Given the description of an element on the screen output the (x, y) to click on. 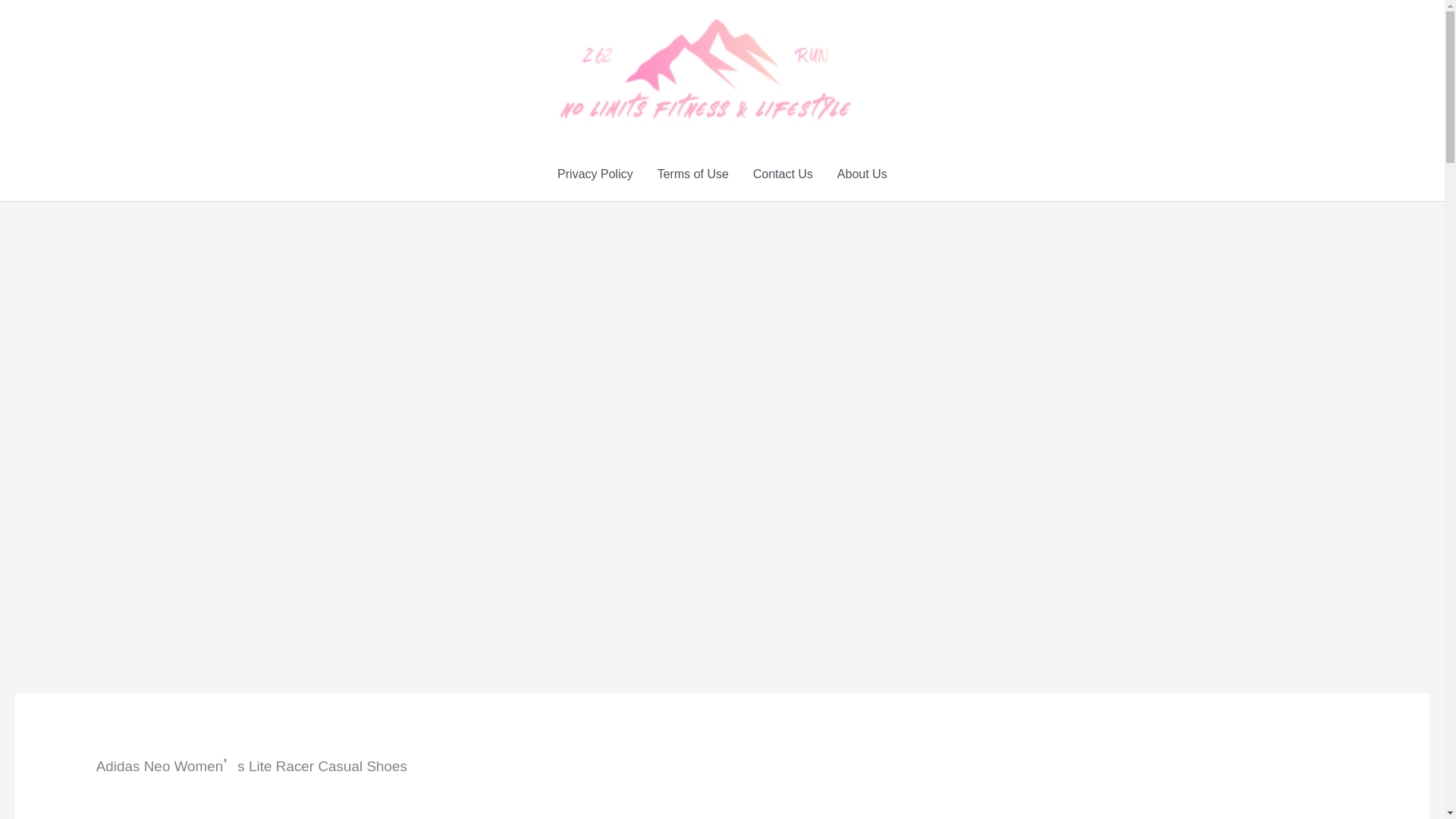
262 Run (876, 68)
Terms of Use (693, 174)
Privacy Policy (594, 174)
Contact Us (783, 174)
About Us (862, 174)
